Given the description of an element on the screen output the (x, y) to click on. 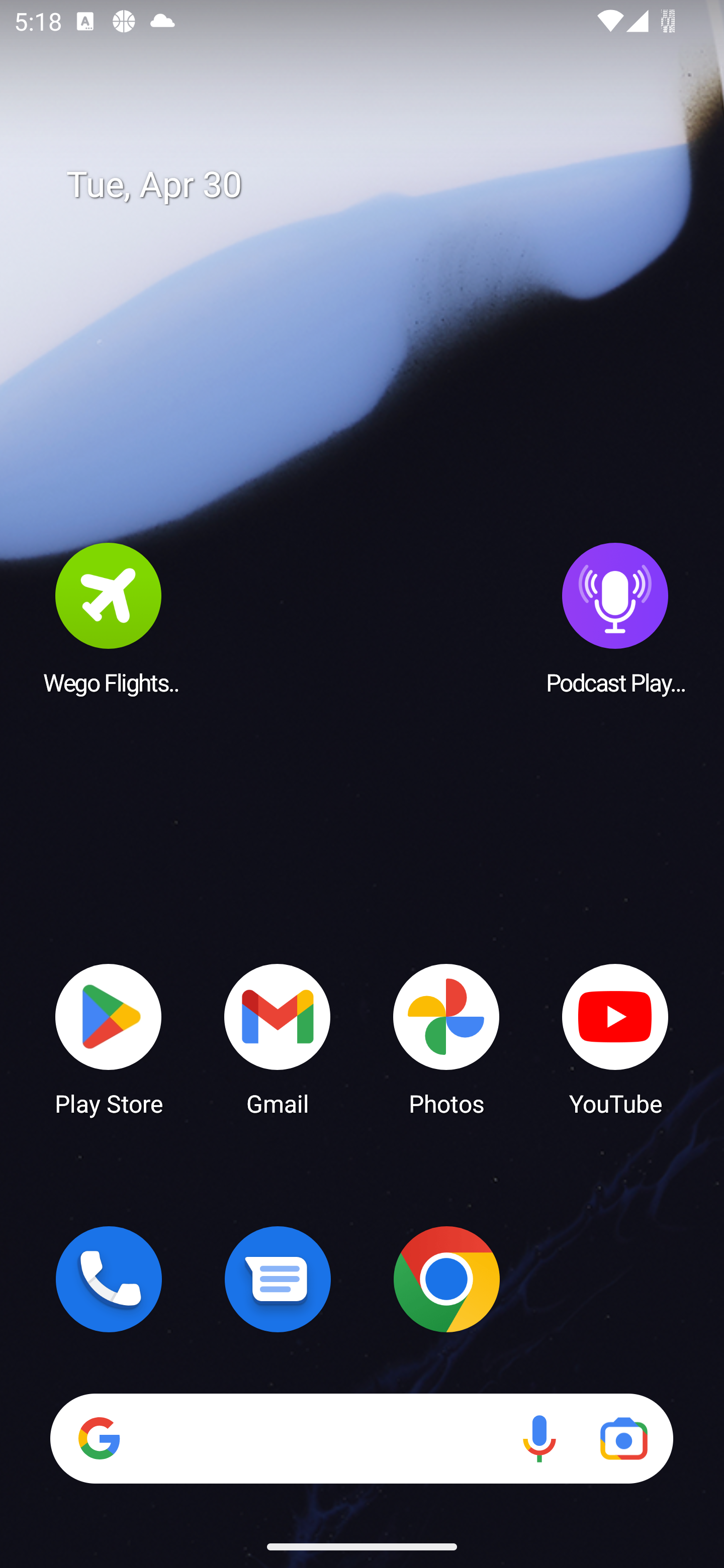
Tue, Apr 30 (375, 184)
Wego Flights & Hotels (108, 617)
Podcast Player (615, 617)
Play Store (108, 1038)
Gmail (277, 1038)
Photos (445, 1038)
YouTube (615, 1038)
Phone (108, 1279)
Messages (277, 1279)
Chrome (446, 1279)
Voice search (539, 1438)
Google Lens (623, 1438)
